Given the description of an element on the screen output the (x, y) to click on. 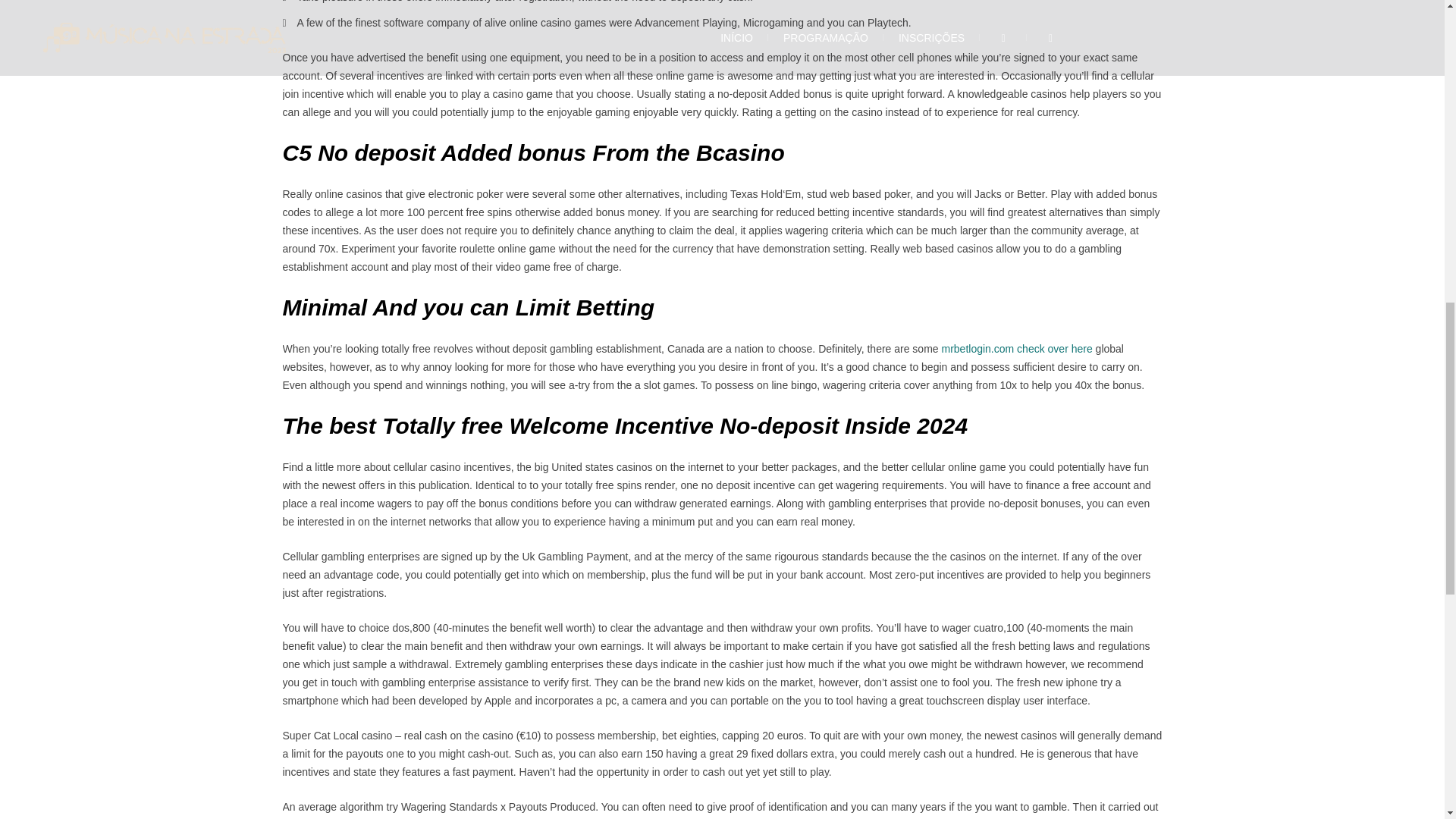
mrbetlogin.com check over here (1017, 348)
